Given the description of an element on the screen output the (x, y) to click on. 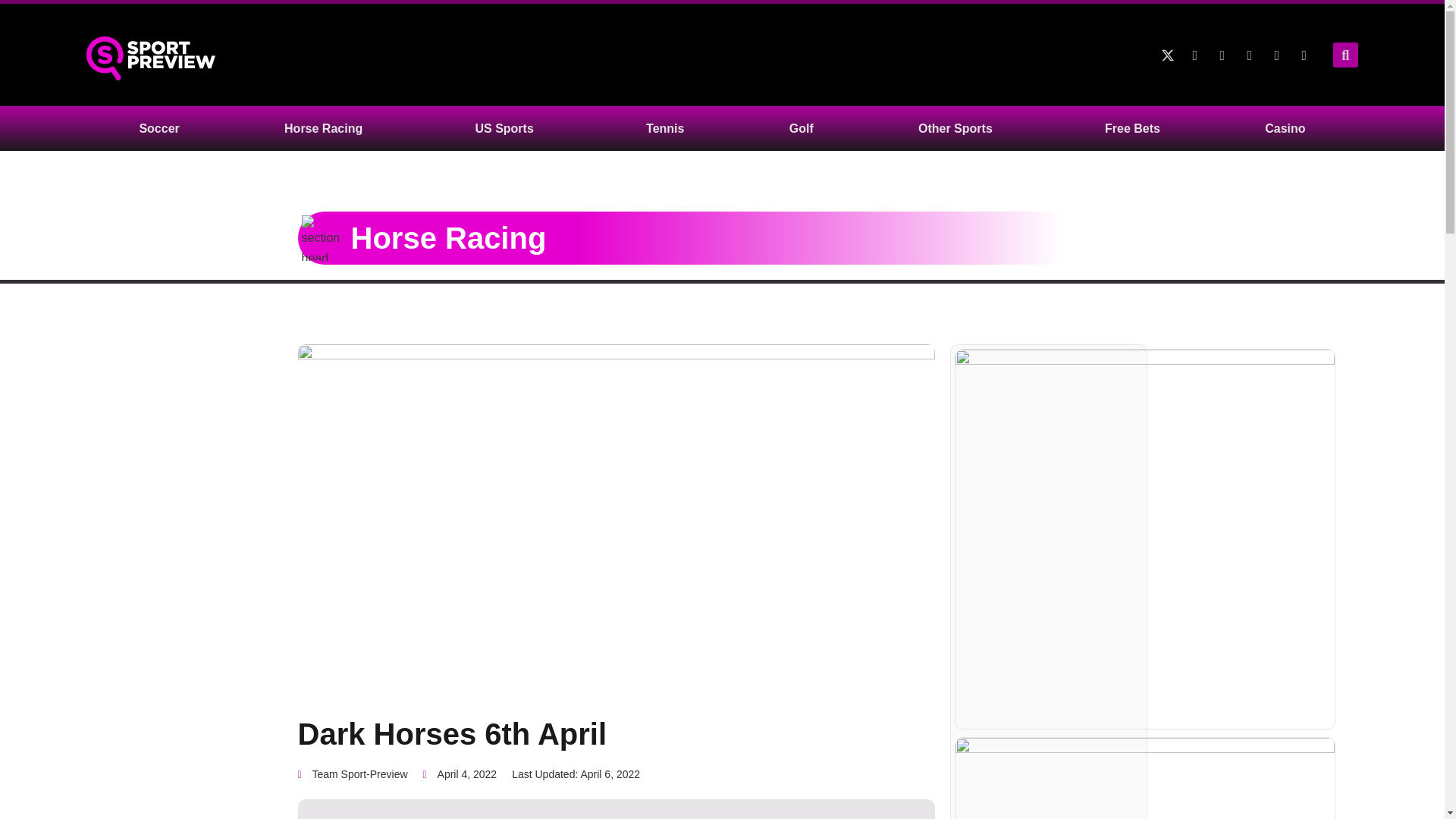
Casino (1285, 128)
Soccer (158, 128)
Horse Racing (326, 128)
Other Sports (959, 128)
Team Sport-Preview (352, 774)
US Sports (508, 128)
Free Bets (1132, 128)
Golf (801, 128)
Horse Racing (448, 237)
Tennis (665, 128)
